Given the description of an element on the screen output the (x, y) to click on. 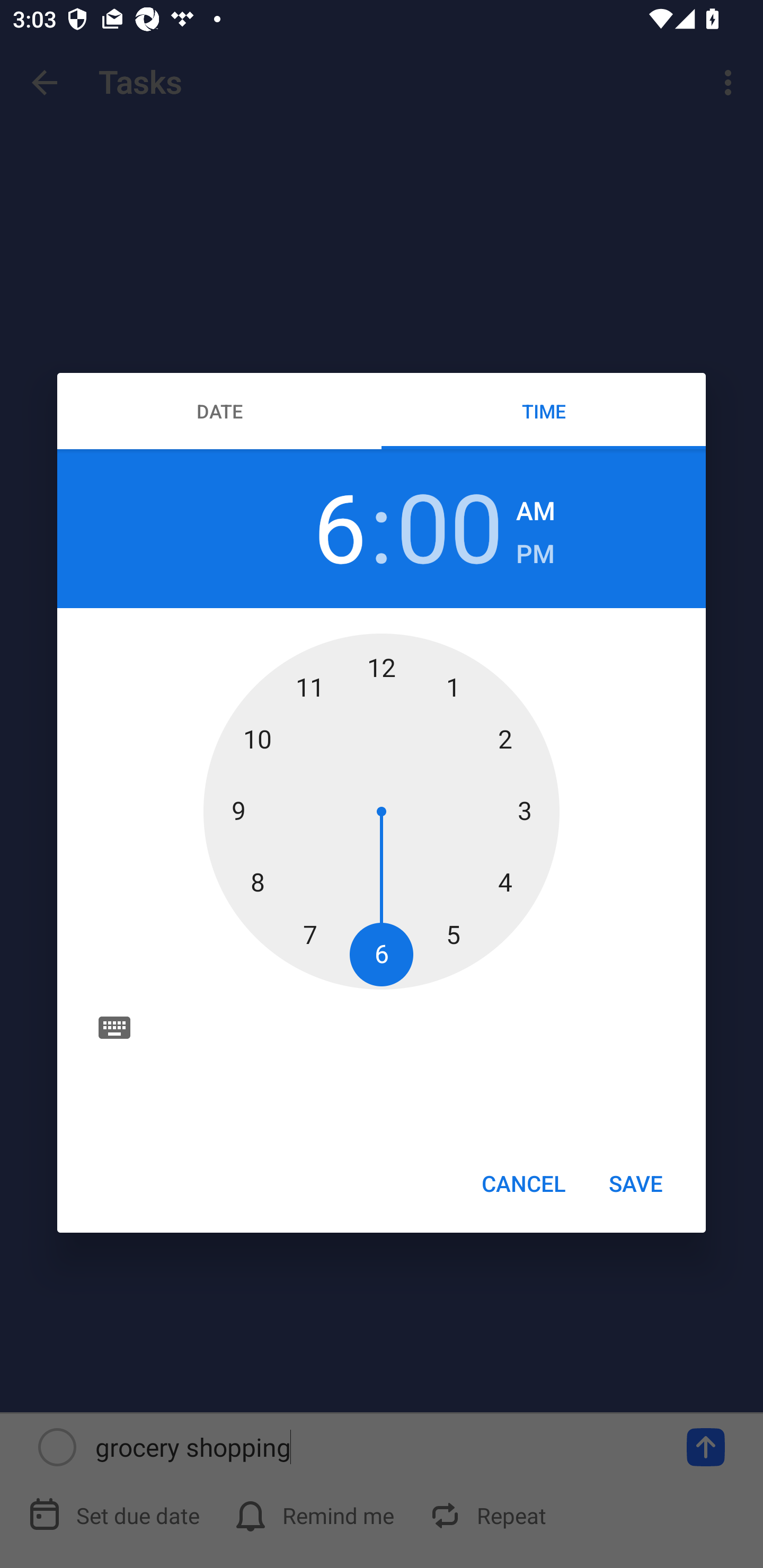
PM (534, 553)
